Given the description of an element on the screen output the (x, y) to click on. 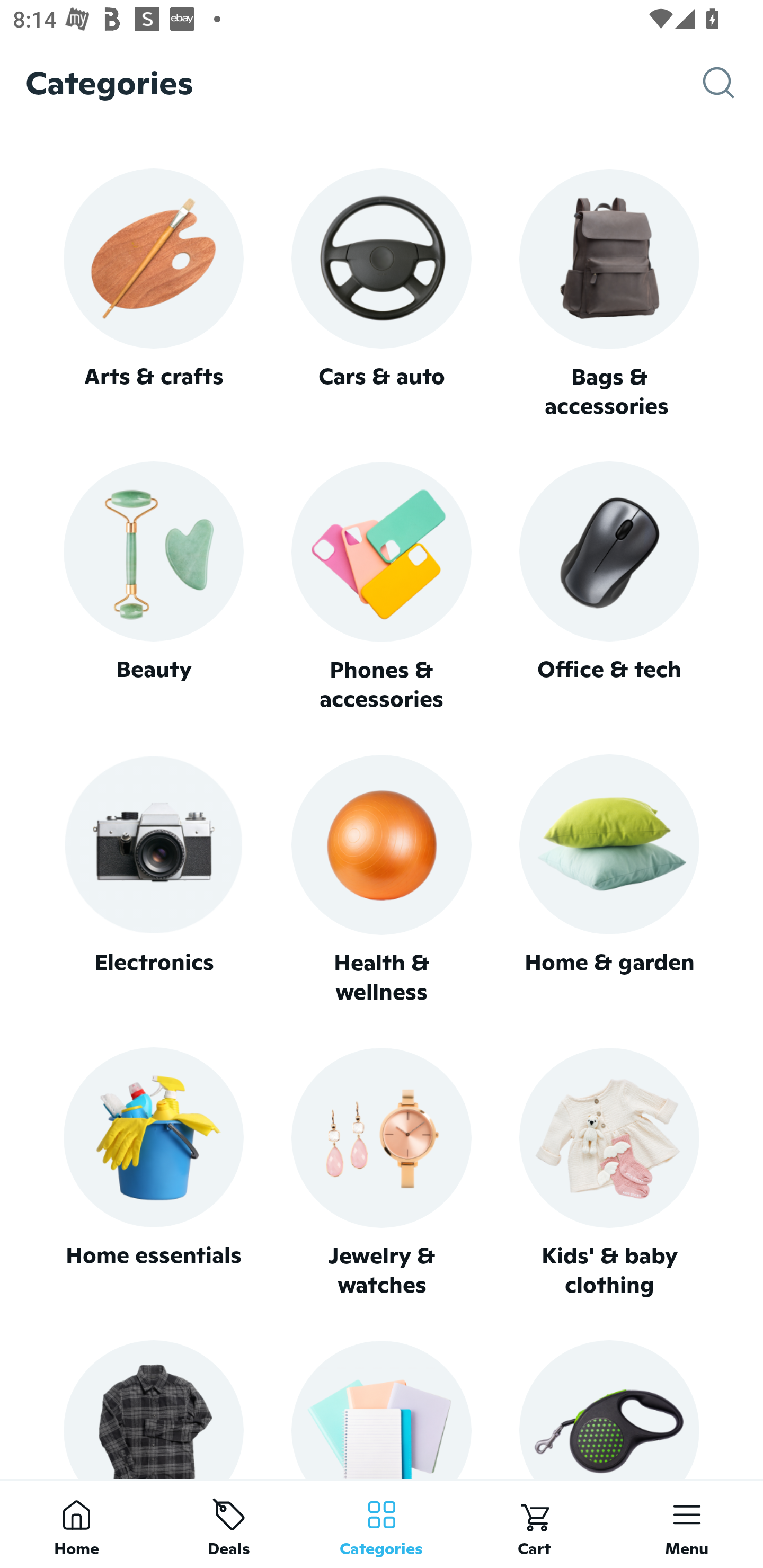
Search (732, 82)
Arts & crafts (153, 293)
Cars & auto (381, 293)
Bags & accessories  (609, 294)
Beauty (153, 586)
Office & tech (609, 586)
Phones & accessories (381, 587)
Electronics (153, 880)
Home & garden (609, 880)
Health & wellness (381, 880)
Home essentials (153, 1172)
Jewelry & watches (381, 1172)
Kids' & baby clothing (609, 1172)
Men's clothing (153, 1409)
Pet supplies (609, 1409)
Office & school supplies (381, 1409)
Home (76, 1523)
Deals (228, 1523)
Categories (381, 1523)
Cart (533, 1523)
Menu (686, 1523)
